Given the description of an element on the screen output the (x, y) to click on. 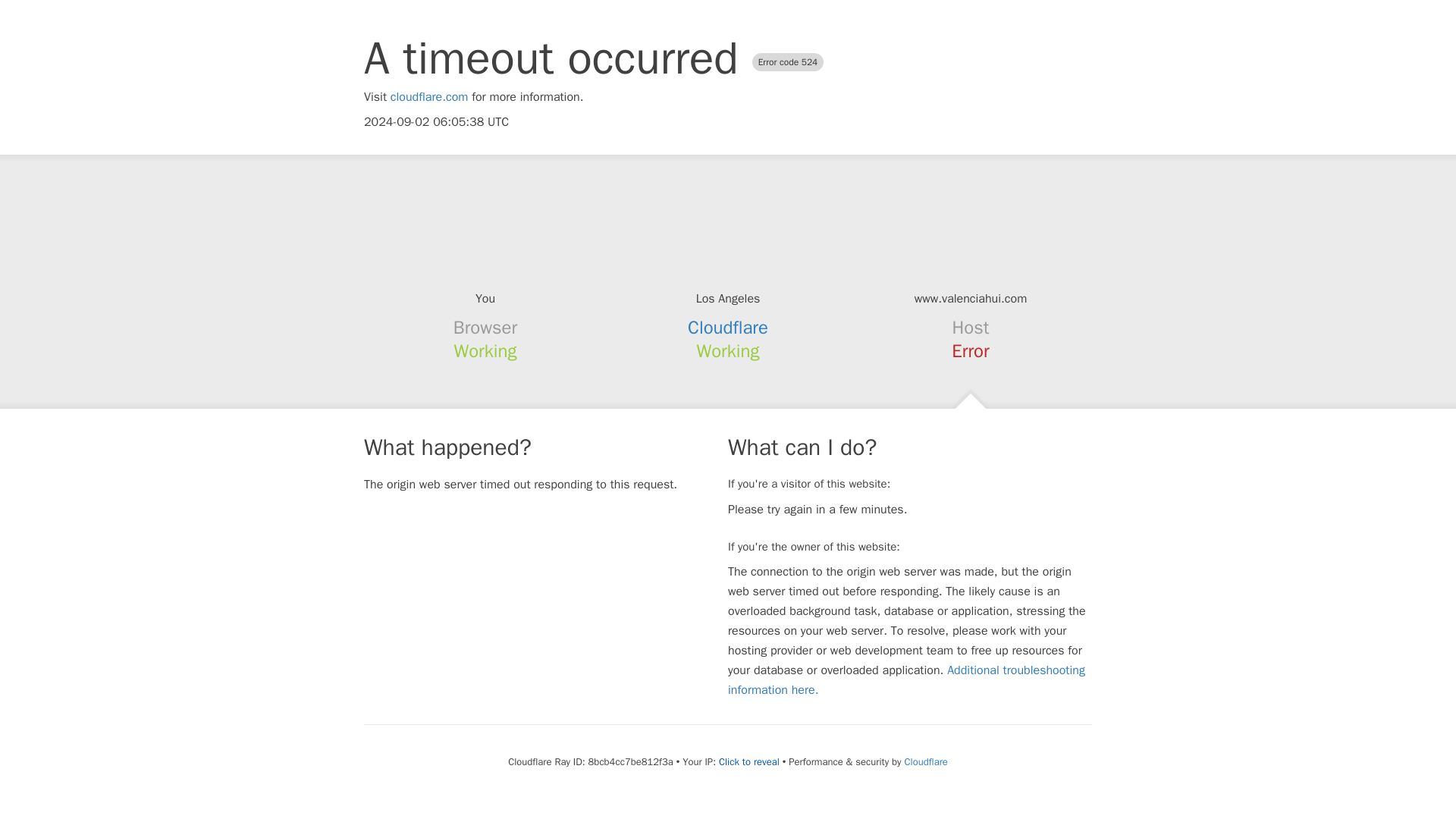
Cloudflare (727, 327)
Click to reveal (748, 762)
cloudflare.com (429, 96)
Cloudflare (925, 761)
Additional troubleshooting information here. (906, 679)
